Given the description of an element on the screen output the (x, y) to click on. 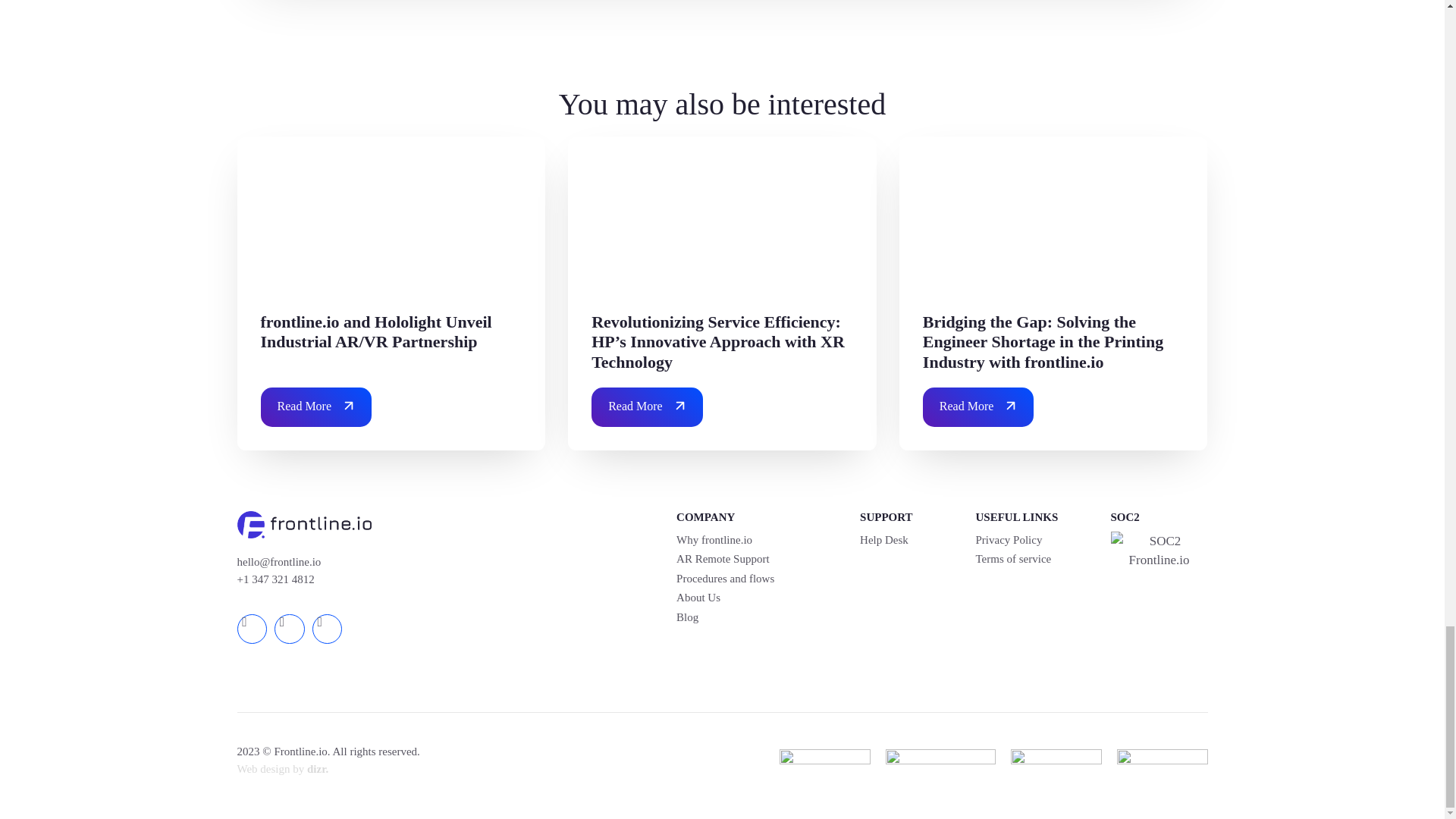
Read More (978, 406)
Read More (647, 406)
Read More (316, 406)
